Given the description of an element on the screen output the (x, y) to click on. 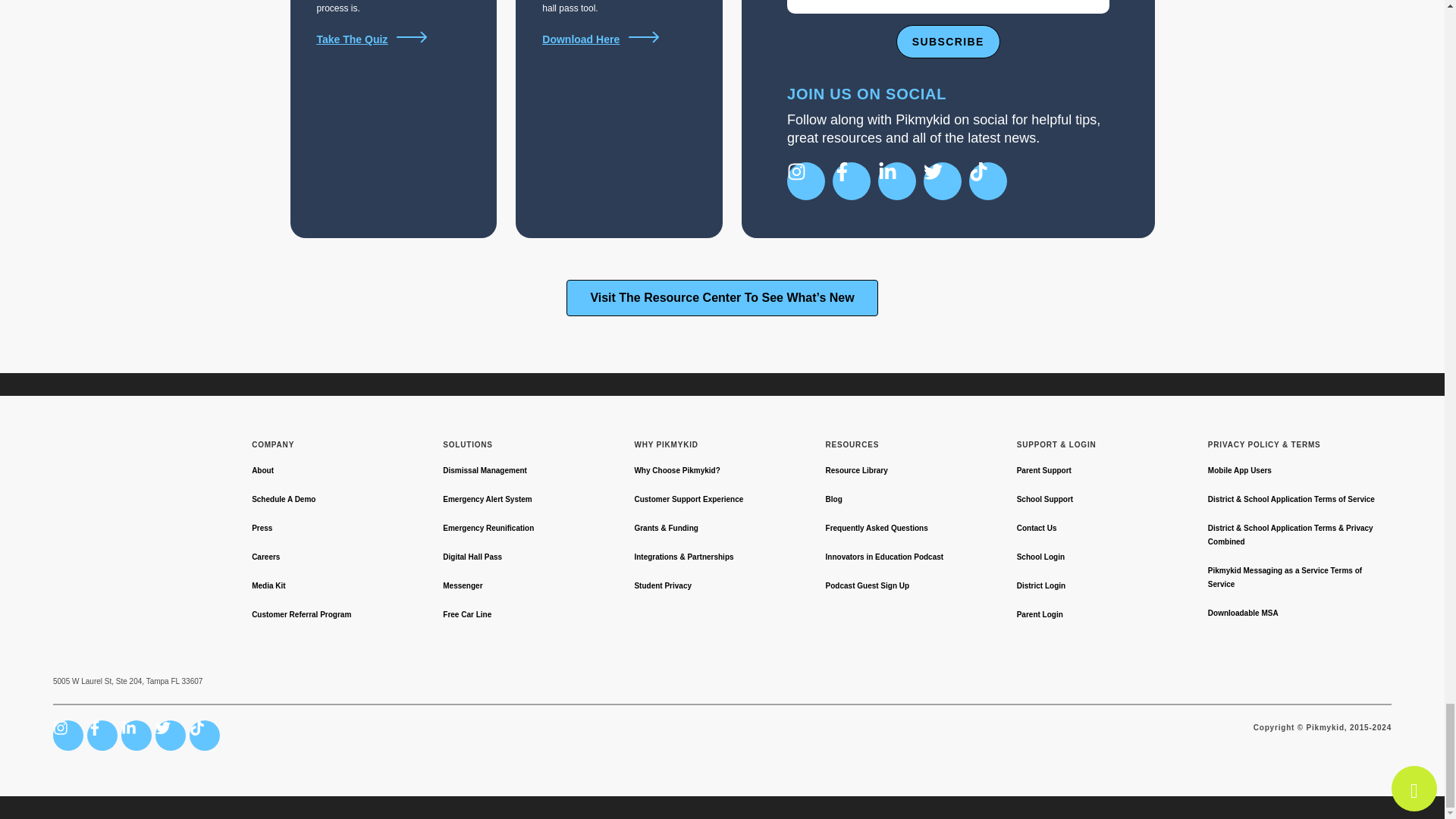
Subscribe (948, 41)
